Given the description of an element on the screen output the (x, y) to click on. 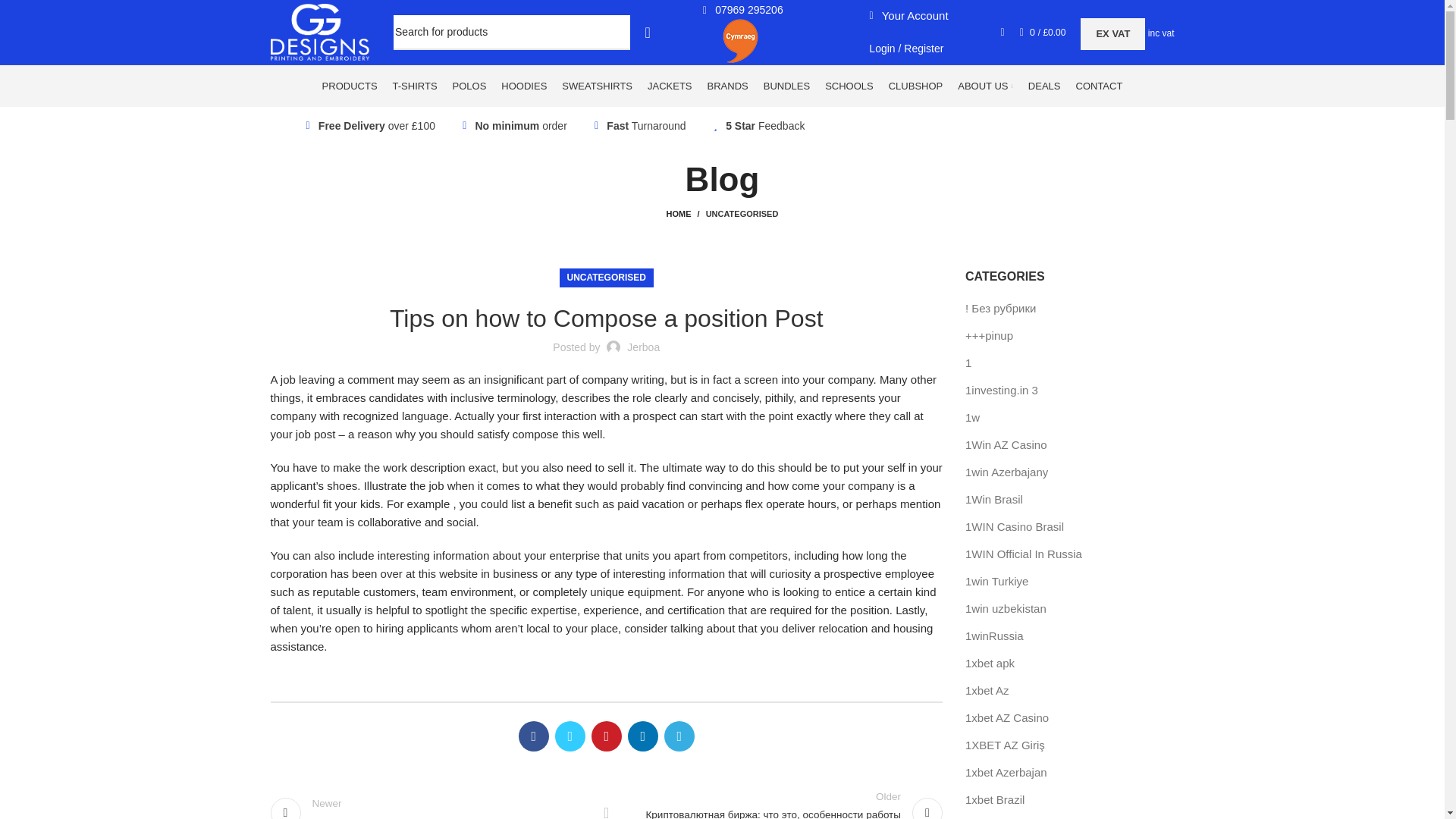
POLOS (469, 86)
CLUBSHOP (915, 86)
UNCATEGORISED (742, 213)
07969 295206 (740, 9)
BRANDS (727, 86)
ABOUT US (985, 86)
SEARCH (647, 32)
JACKETS (670, 86)
Find out more. (1103, 124)
Your Account (906, 15)
